Given the description of an element on the screen output the (x, y) to click on. 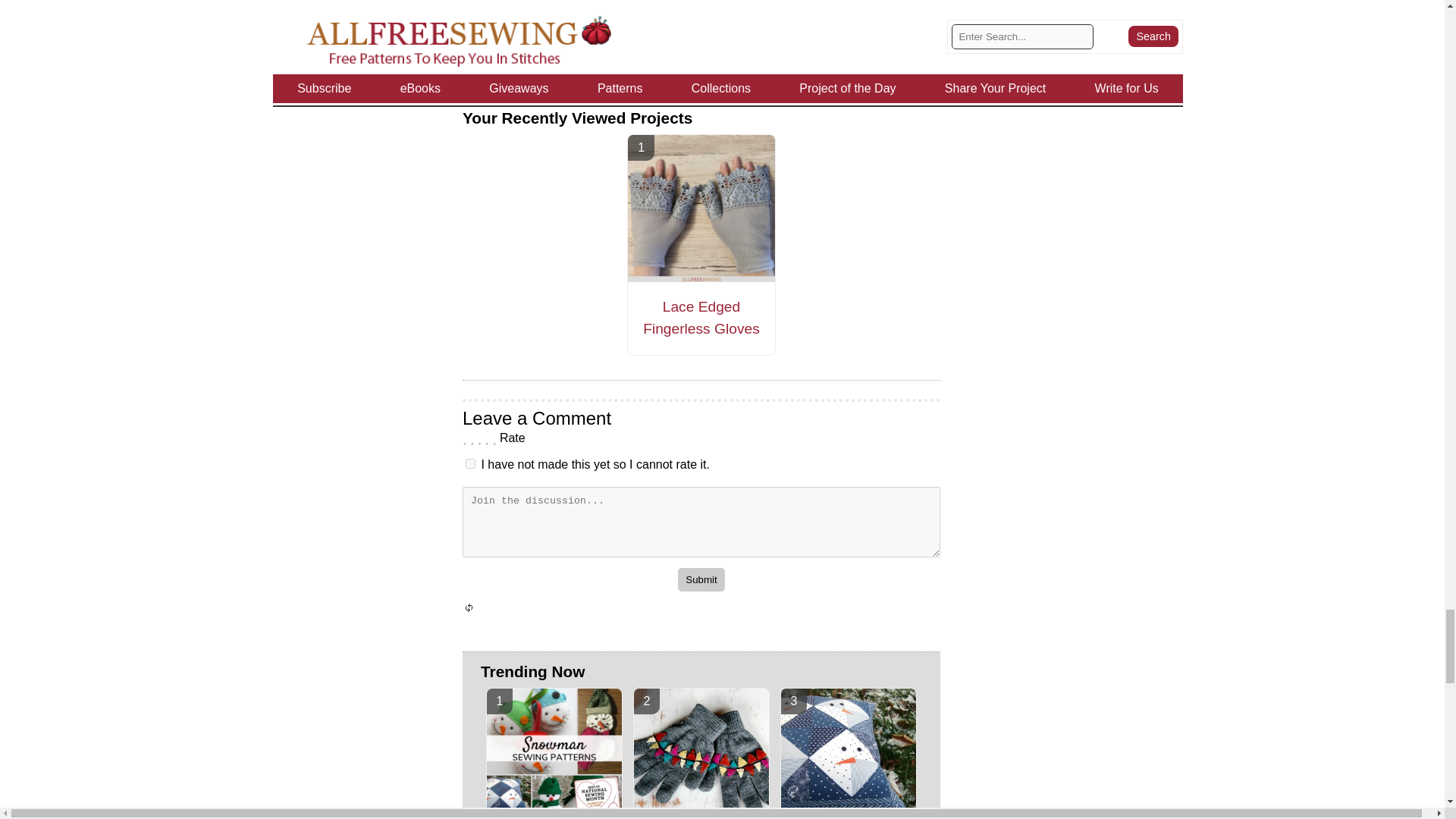
1 (470, 463)
Submit (700, 579)
